Given the description of an element on the screen output the (x, y) to click on. 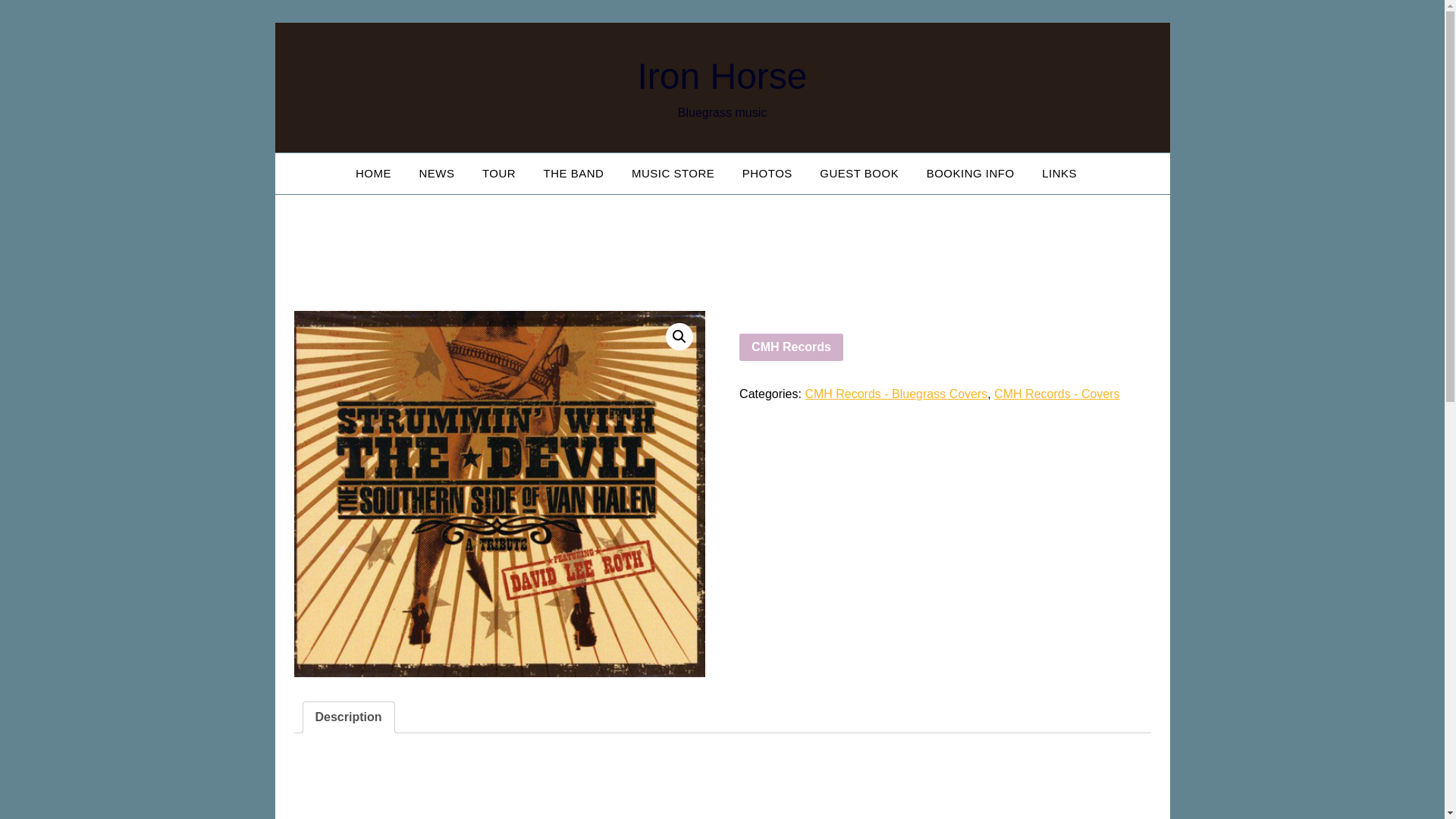
HOME (379, 173)
CMH Records (791, 347)
Iron Horse (721, 76)
Description (348, 716)
CMH Records - Bluegrass Covers (896, 393)
THE BAND (573, 173)
PHOTOS (767, 173)
LINKS (1059, 173)
TOUR (498, 173)
BOOKING INFO (970, 173)
MUSIC STORE (673, 173)
CMH Records - Covers (1056, 393)
GUEST BOOK (859, 173)
NEWS (435, 173)
